Given the description of an element on the screen output the (x, y) to click on. 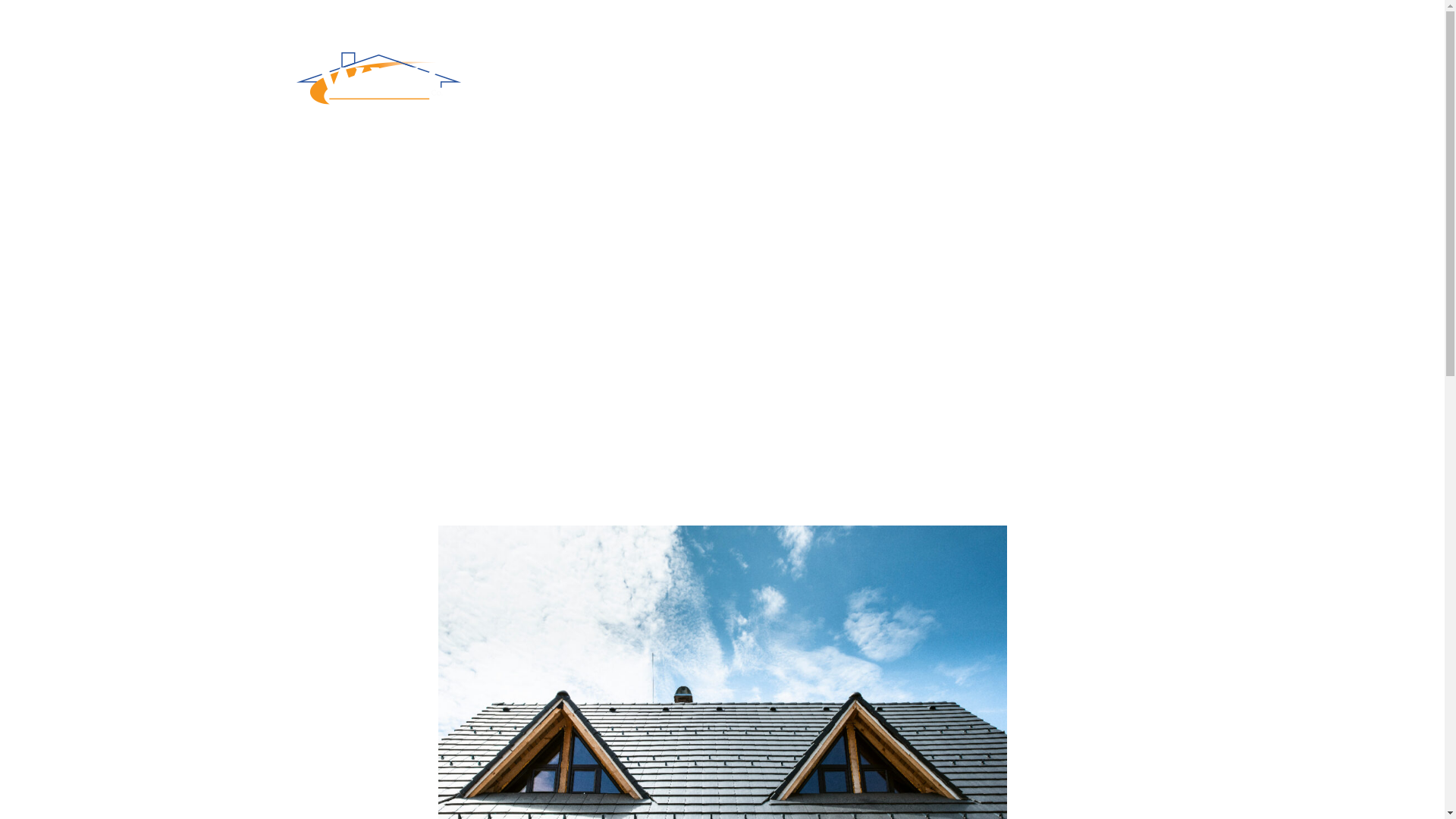
Services (675, 71)
Contact Us (761, 109)
Financing (881, 71)
The WNY Company (377, 78)
Blog (1021, 71)
Reviews (958, 71)
Insurance Claims (778, 71)
Apply Today (1097, 71)
About (601, 71)
